Given the description of an element on the screen output the (x, y) to click on. 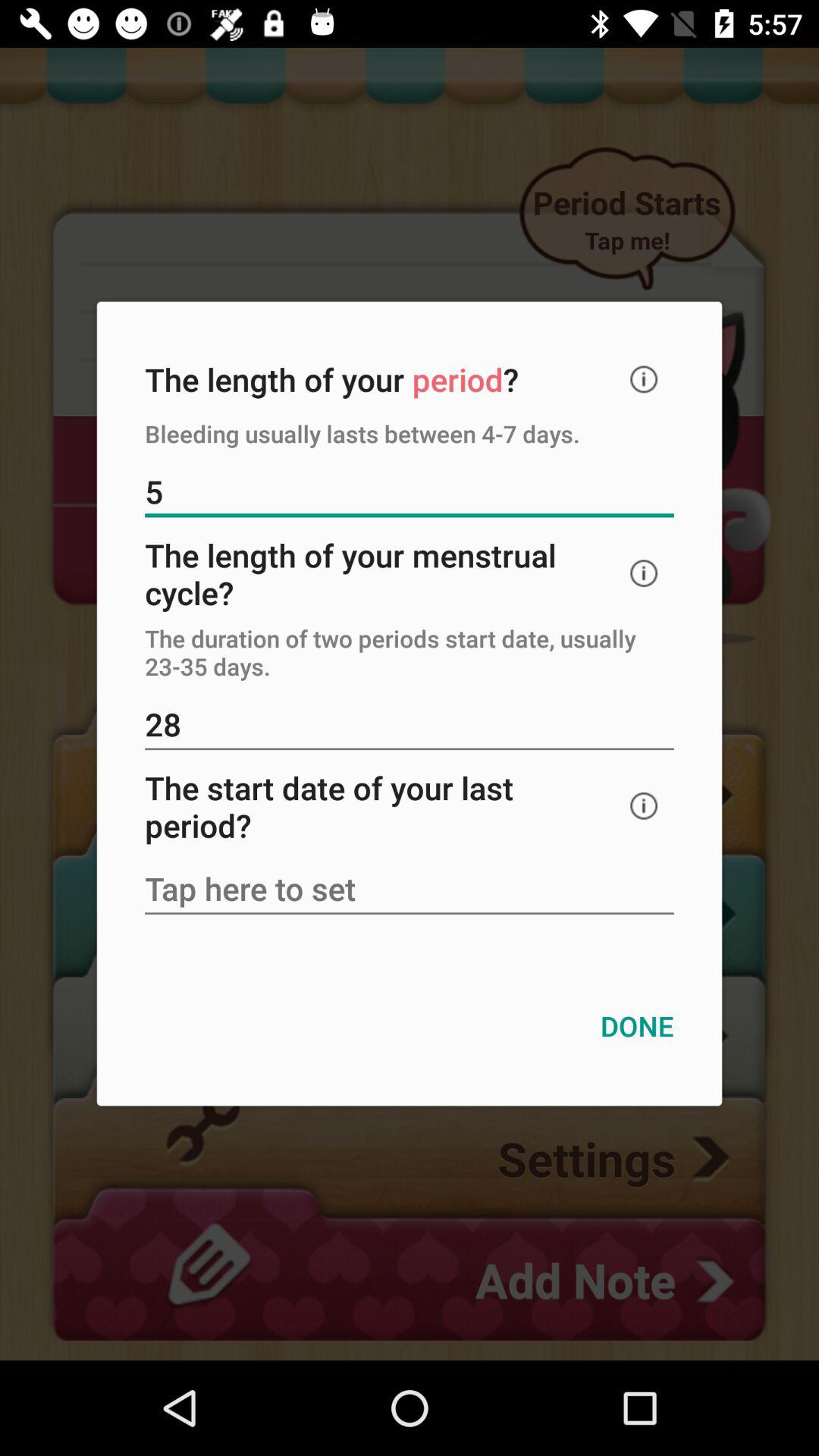
turn off icon above the the start date (409, 726)
